Given the description of an element on the screen output the (x, y) to click on. 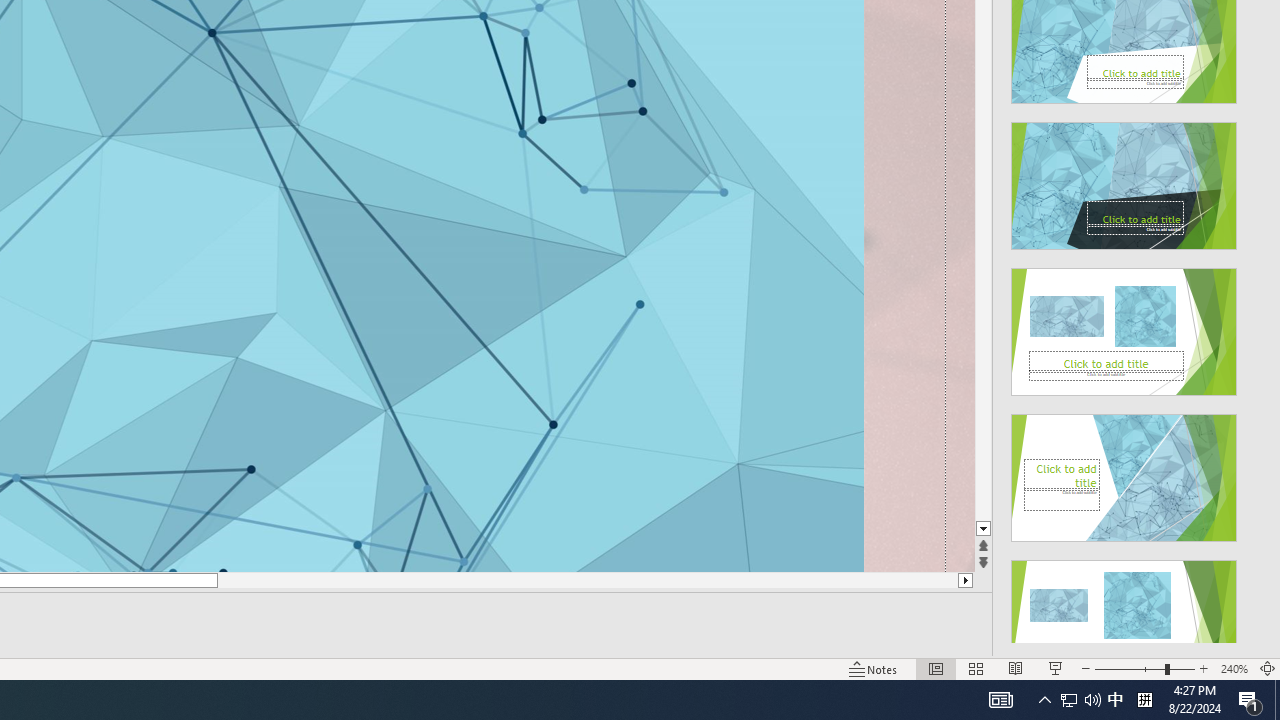
Zoom 240% (1234, 668)
